Given the description of an element on the screen output the (x, y) to click on. 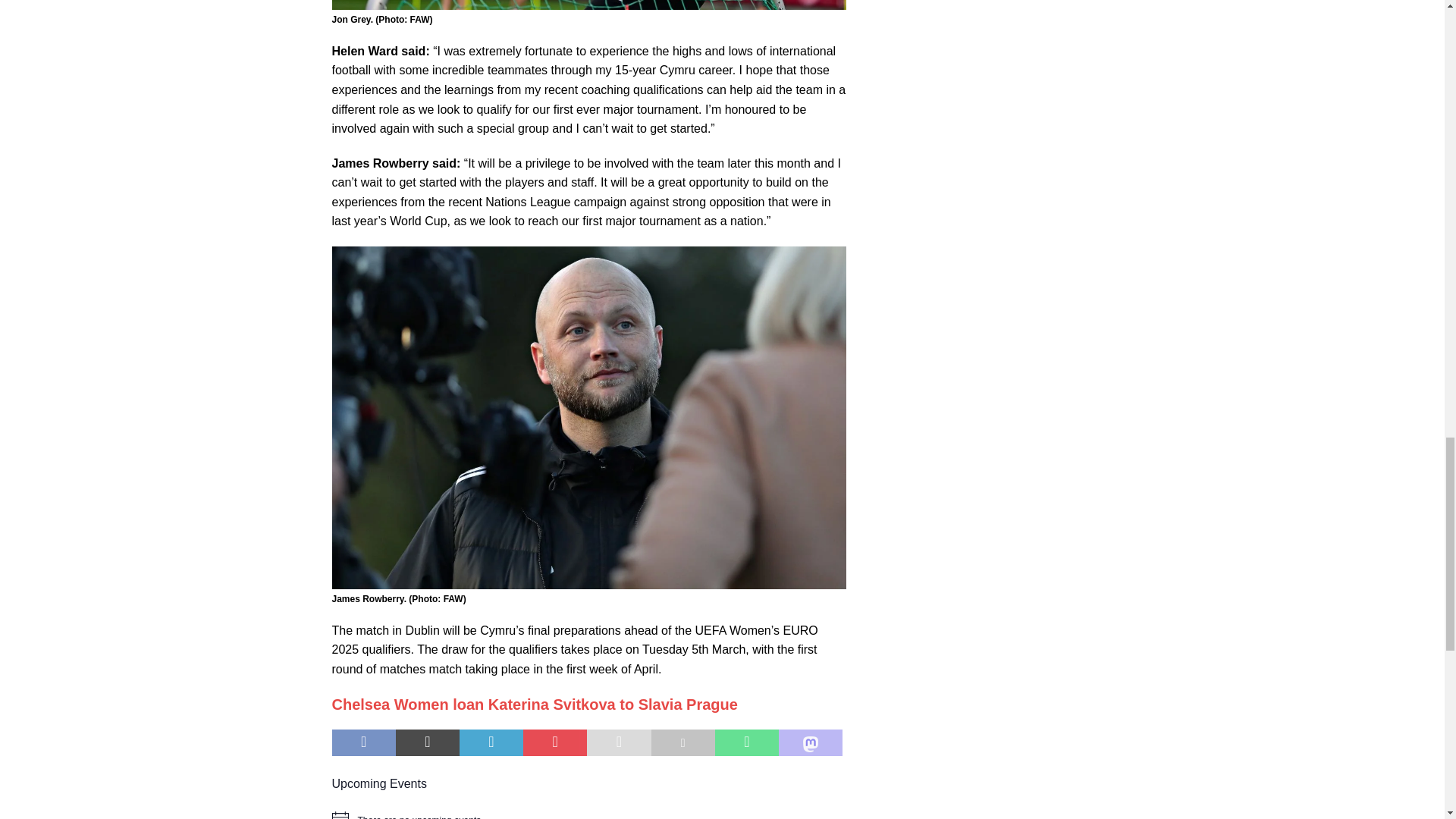
Tweet This Post (428, 742)
Send this article to a friend (618, 742)
Share on Facebook (363, 742)
Chelsea Women loan Katerina Svitkova to Slavia Prague (534, 704)
Share on LinkedIn (491, 742)
Pin This Post (554, 742)
